Given the description of an element on the screen output the (x, y) to click on. 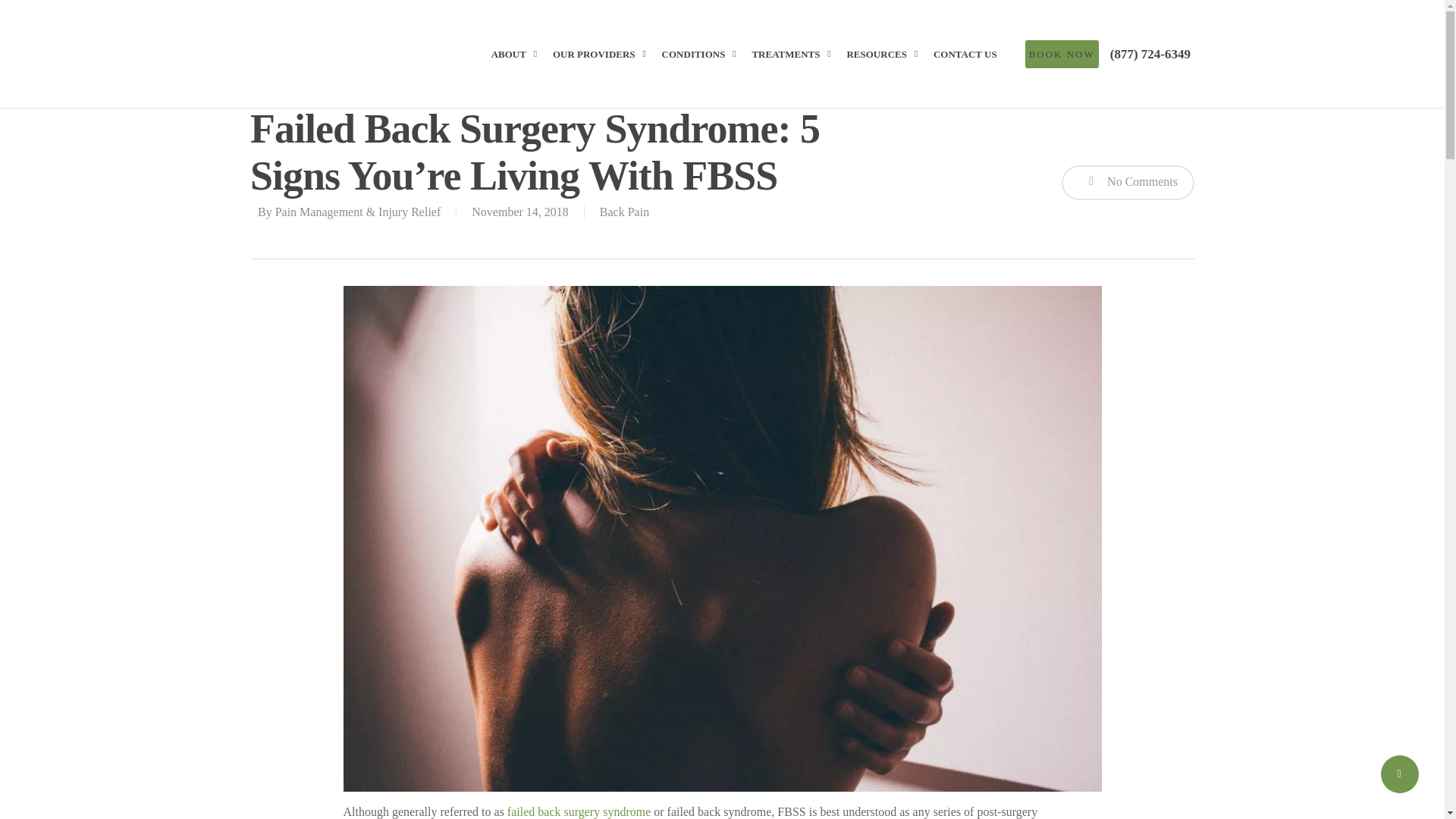
OUR PROVIDERS (603, 63)
CONDITIONS (703, 63)
TREATMENTS (795, 63)
